Given the description of an element on the screen output the (x, y) to click on. 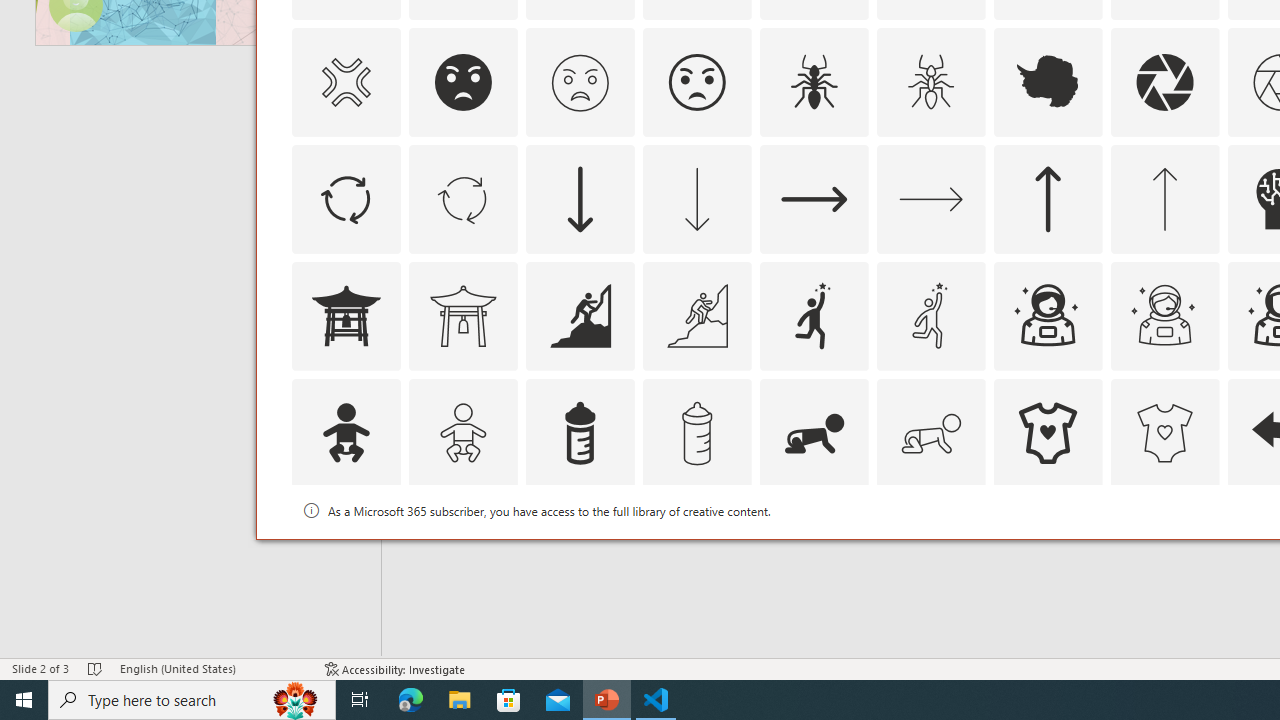
Thumbnail (1204, 511)
